Given the description of an element on the screen output the (x, y) to click on. 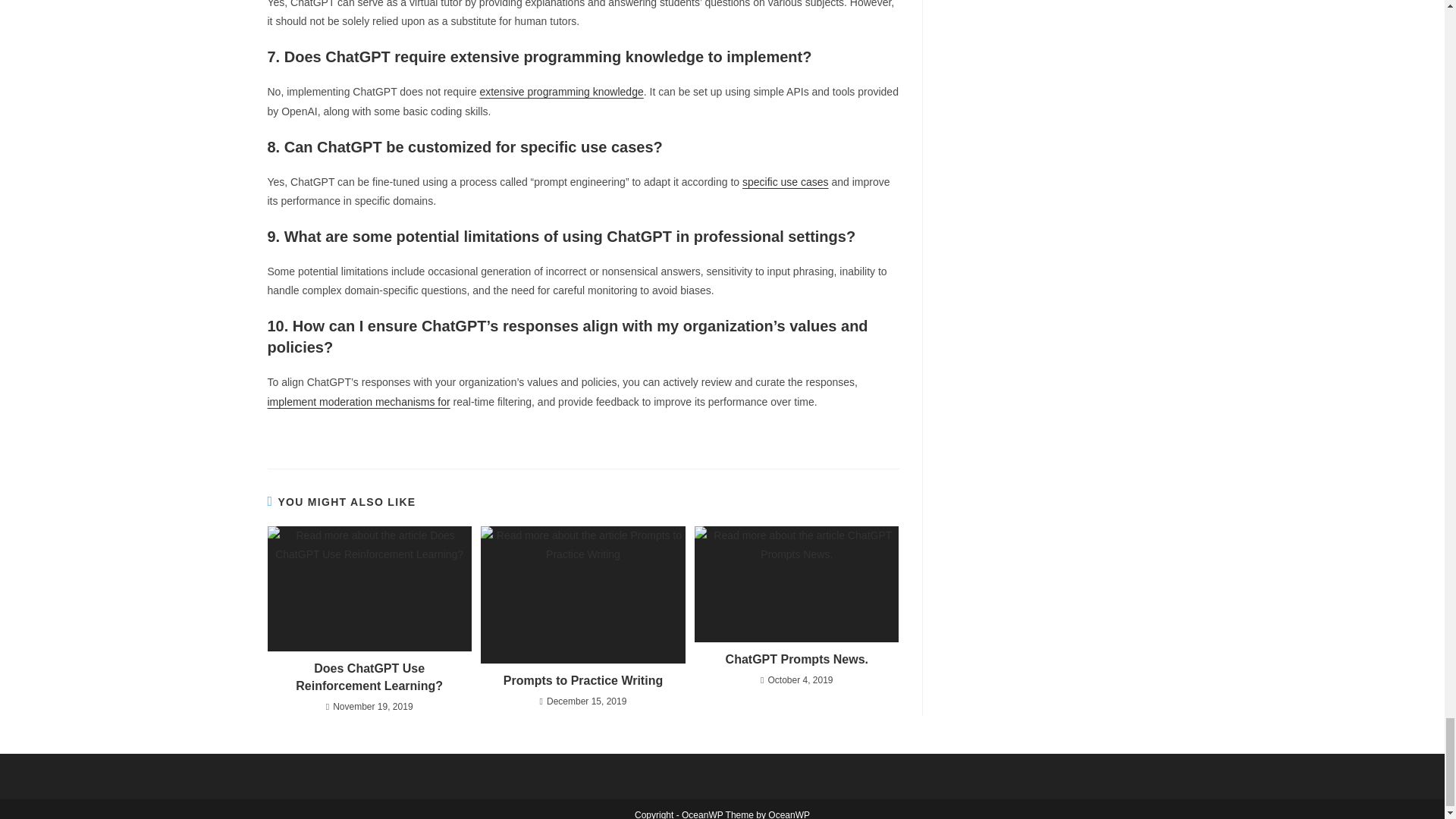
specific use cases (785, 182)
Does ChatGPT Use Reinforcement Learning? (368, 677)
Prompts to Practice Writing (582, 680)
implement moderation mechanisms for (357, 401)
extensive programming knowledge (561, 91)
ChatGPT Prompts News. (796, 659)
